Given the description of an element on the screen output the (x, y) to click on. 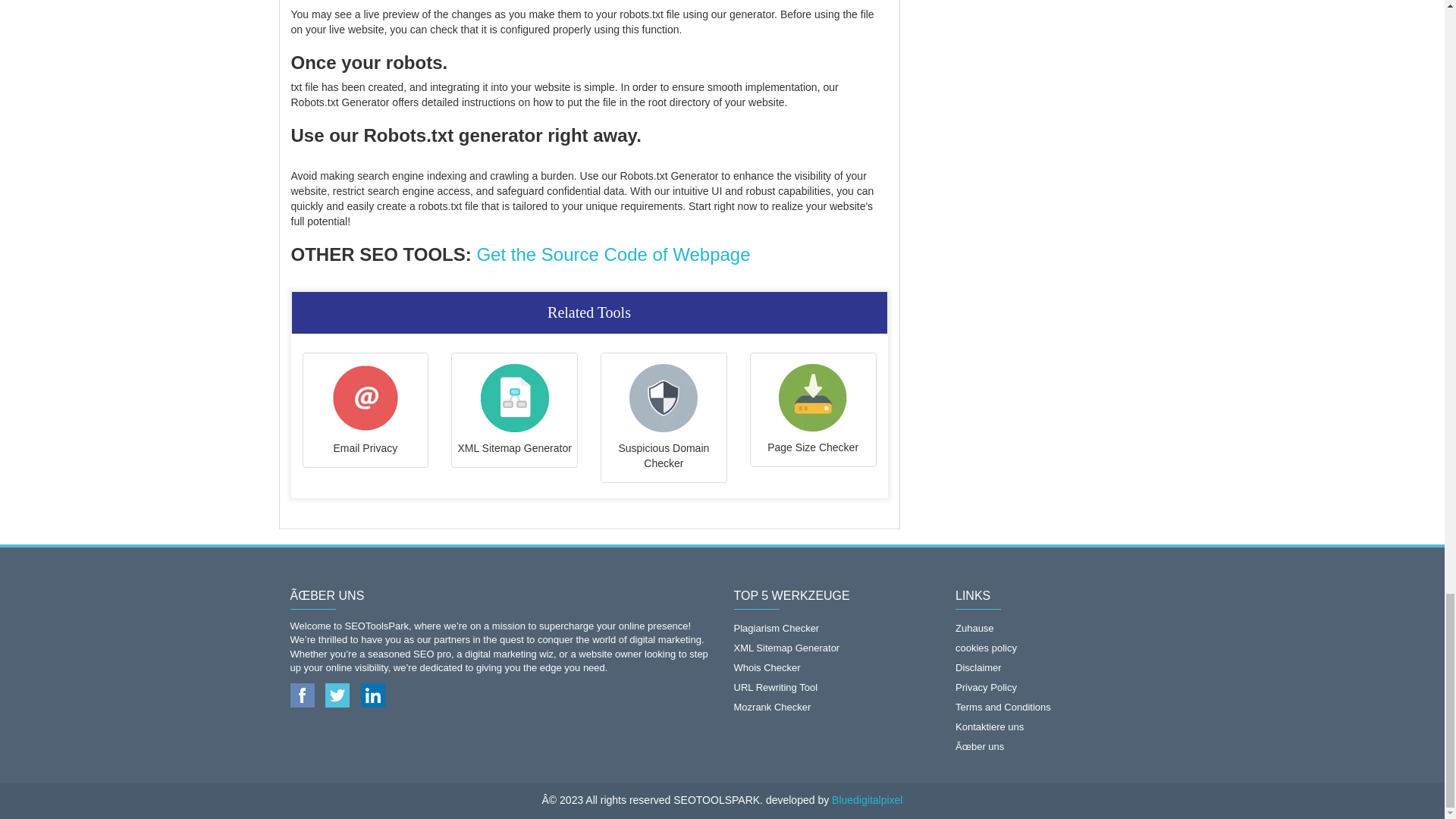
Email Privacy (365, 409)
XML Sitemap Generator (513, 409)
XML Sitemap Generator (833, 648)
Get the Source Code of Webpage (612, 254)
Whois Checker (833, 668)
Page Size Checker (813, 409)
Page Size Checker (813, 409)
Suspicious Domain Checker (663, 417)
Suspicious Domain Checker (663, 417)
XML Sitemap Generator (513, 409)
Plagiarism Checker (833, 628)
Mozrank Checker (833, 707)
URL Rewriting Tool (833, 687)
Email Privacy (365, 409)
